Given the description of an element on the screen output the (x, y) to click on. 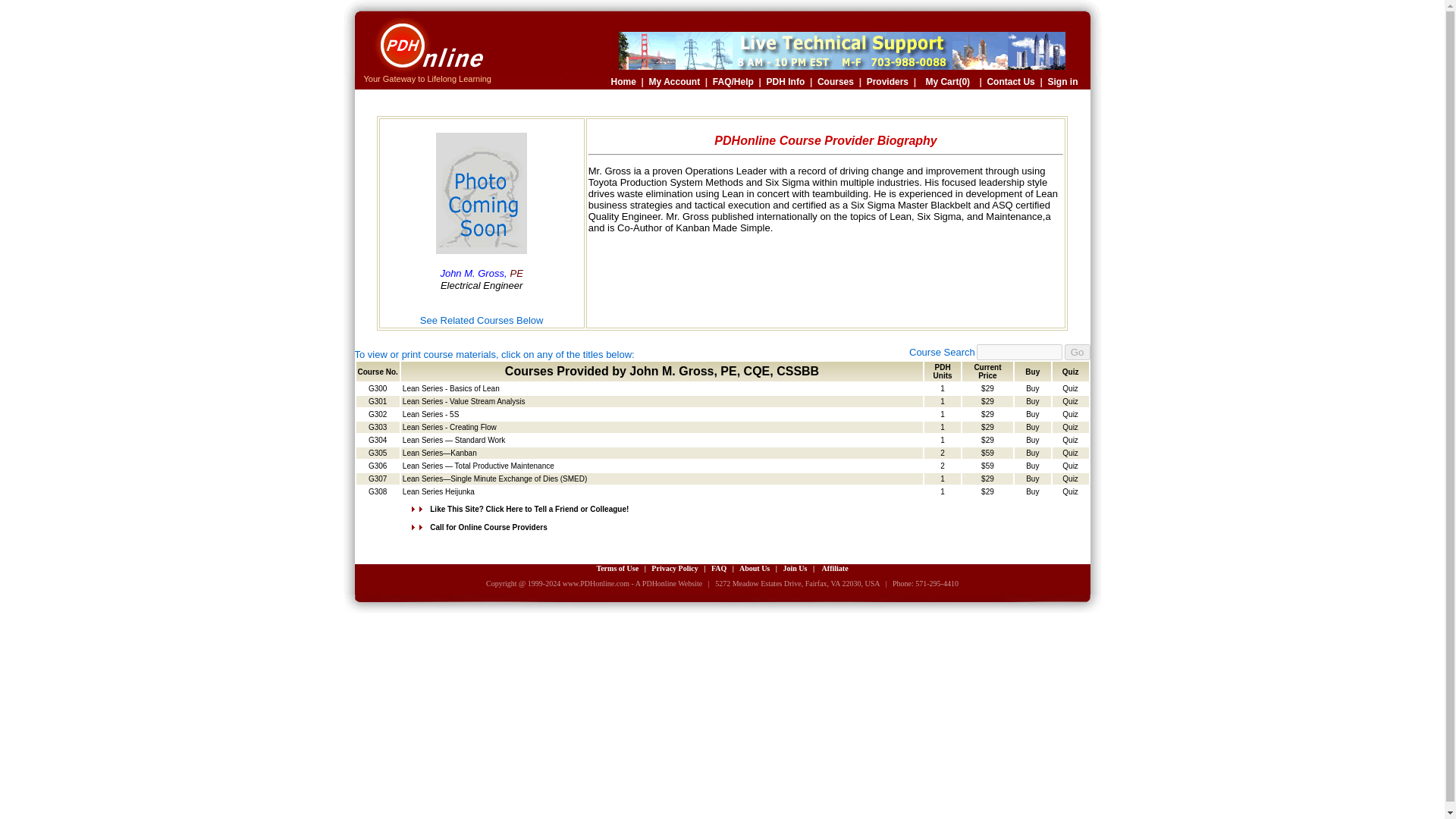
Buy (1032, 427)
G302 (377, 414)
Lean Series - Basics of Lean (451, 388)
Buy (1032, 439)
Quiz (1070, 388)
Lean Series - 5S (431, 414)
G300 (377, 388)
Buy (1032, 388)
Go (1077, 351)
Sign in (1063, 81)
Courses (834, 81)
Buy (1032, 401)
Go (1077, 351)
Quiz (1070, 414)
Providers (887, 81)
